Given the description of an element on the screen output the (x, y) to click on. 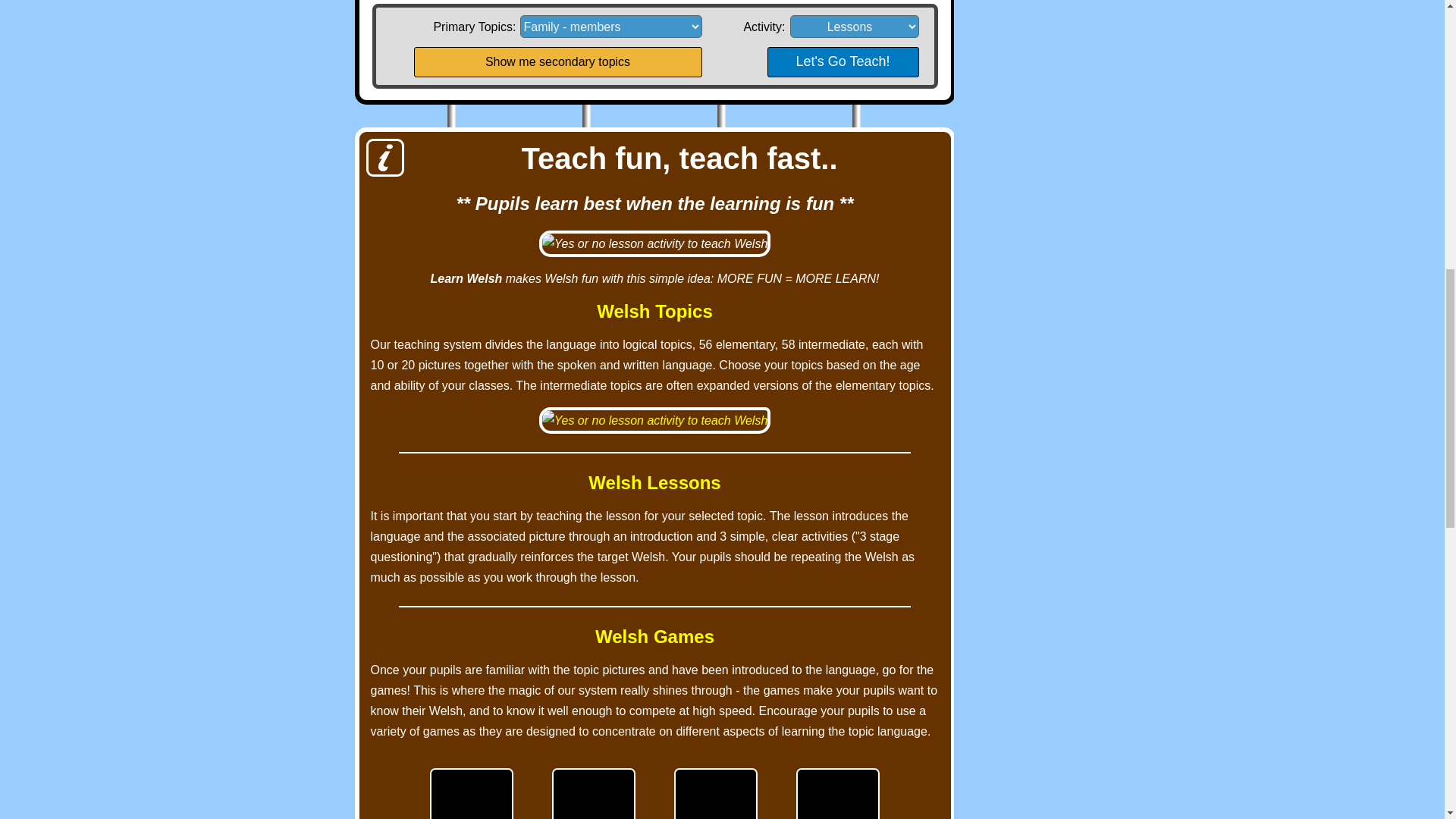
Pong (837, 793)
Topic selection options for teaching elementary Welsh (654, 420)
Move the frog to catch the flies before the bird catches you (592, 793)
Topic selection options for teaching elementary Welsh (654, 420)
Yes or no lesson activity to teach Welsh (654, 243)
12 language games to use in your Welsh classes (654, 636)
Welsh Lessons (654, 482)
Welsh Topics (654, 311)
Let's Go Teach! (842, 61)
Welsh Games (654, 636)
UXO (715, 793)
